Given the description of an element on the screen output the (x, y) to click on. 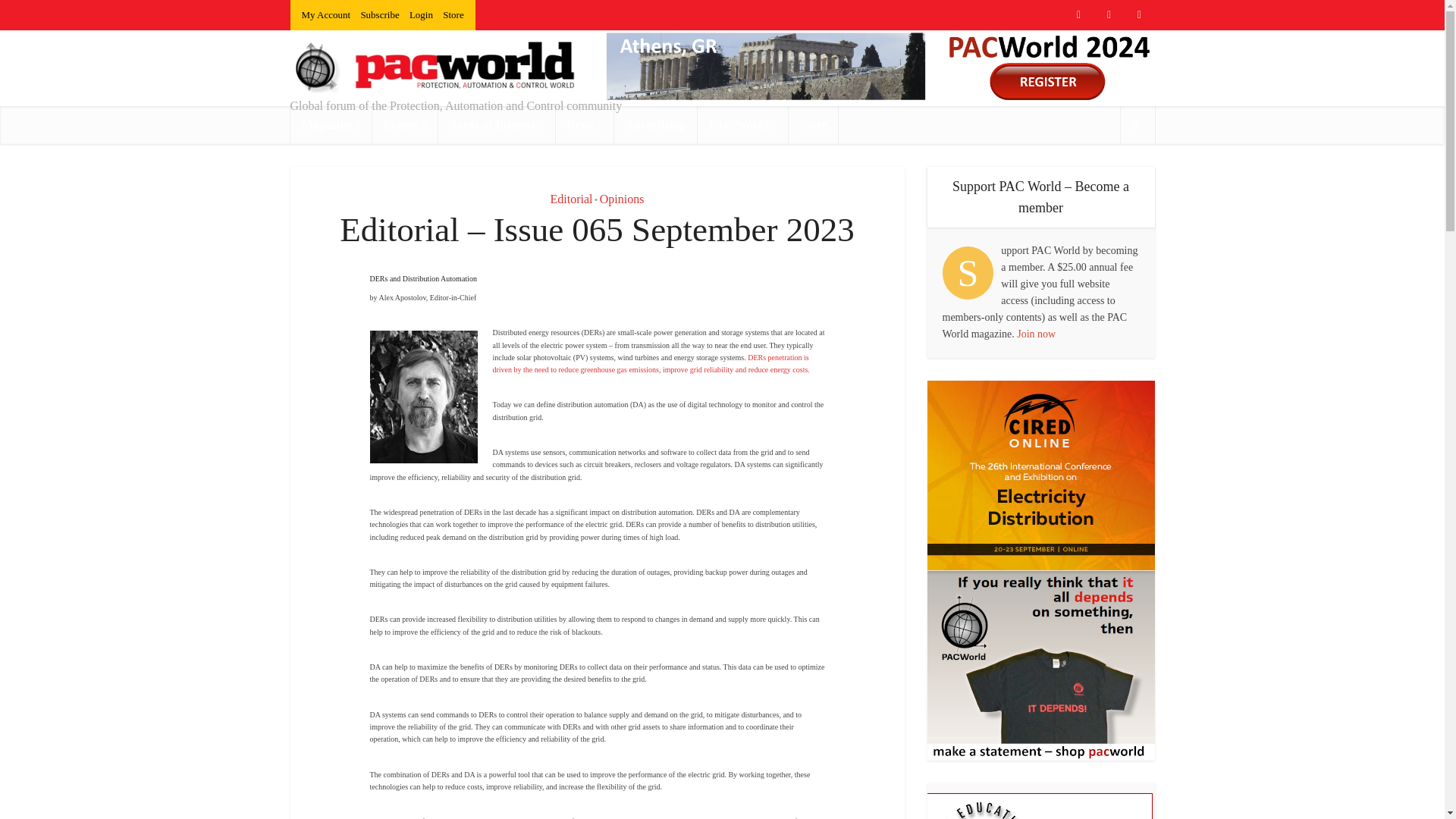
Store (452, 14)
My Account (325, 14)
Store (812, 125)
Advertising (654, 125)
Areas of Interest (496, 125)
PAC World (742, 125)
Events (404, 125)
Magazine (330, 125)
Subscribe (378, 14)
Login (420, 14)
News (583, 125)
